Given the description of an element on the screen output the (x, y) to click on. 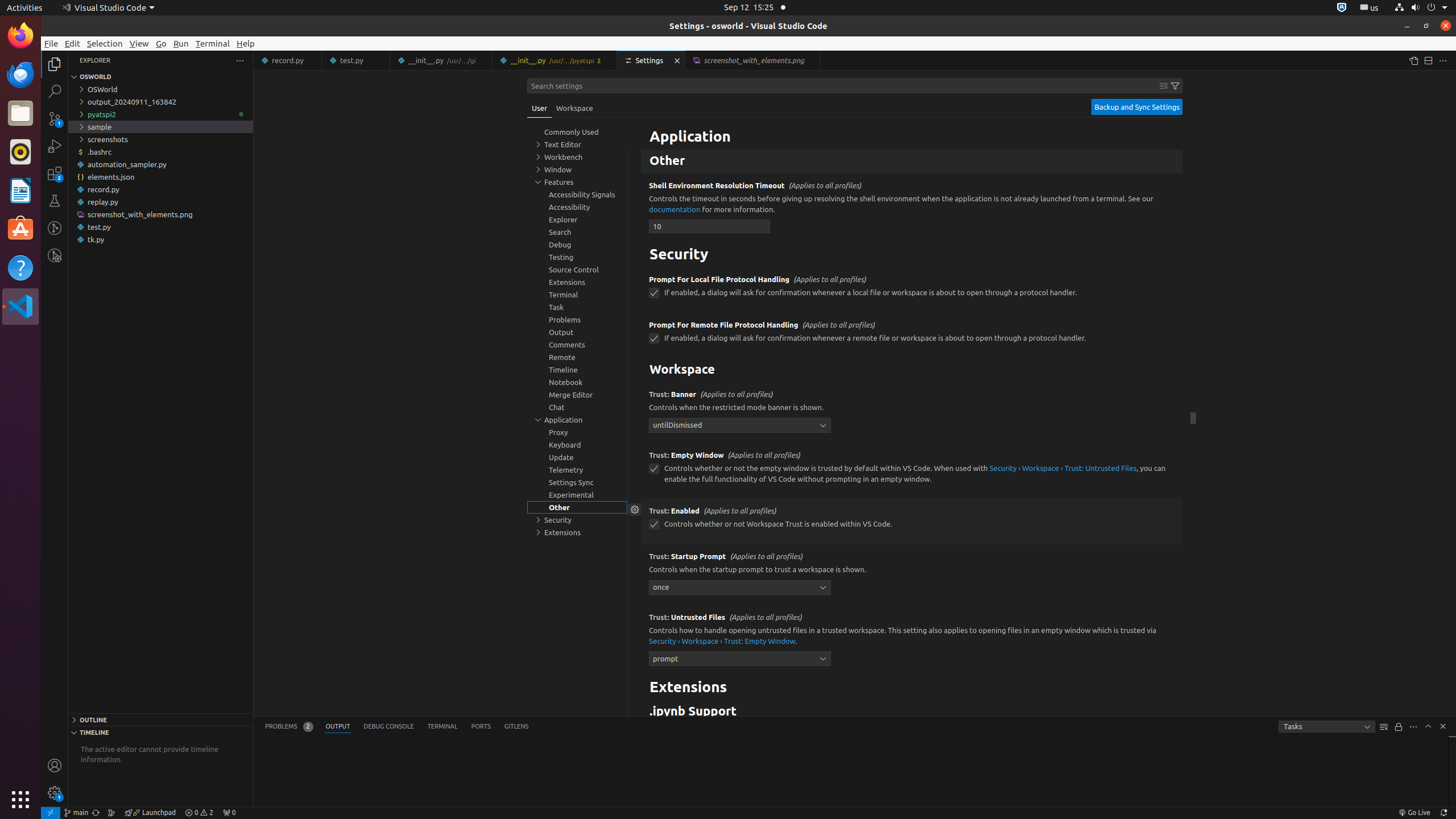
Accessibility Signals, group Element type: tree-item (577, 194)
Keyboard, group Element type: tree-item (577, 444)
OSWorld (Git) - Synchronize Changes Element type: push-button (95, 812)
security.workspace.trust.emptyWindow Element type: check-box (653, 468)
Ports Element type: page-tab (480, 726)
